Given the description of an element on the screen output the (x, y) to click on. 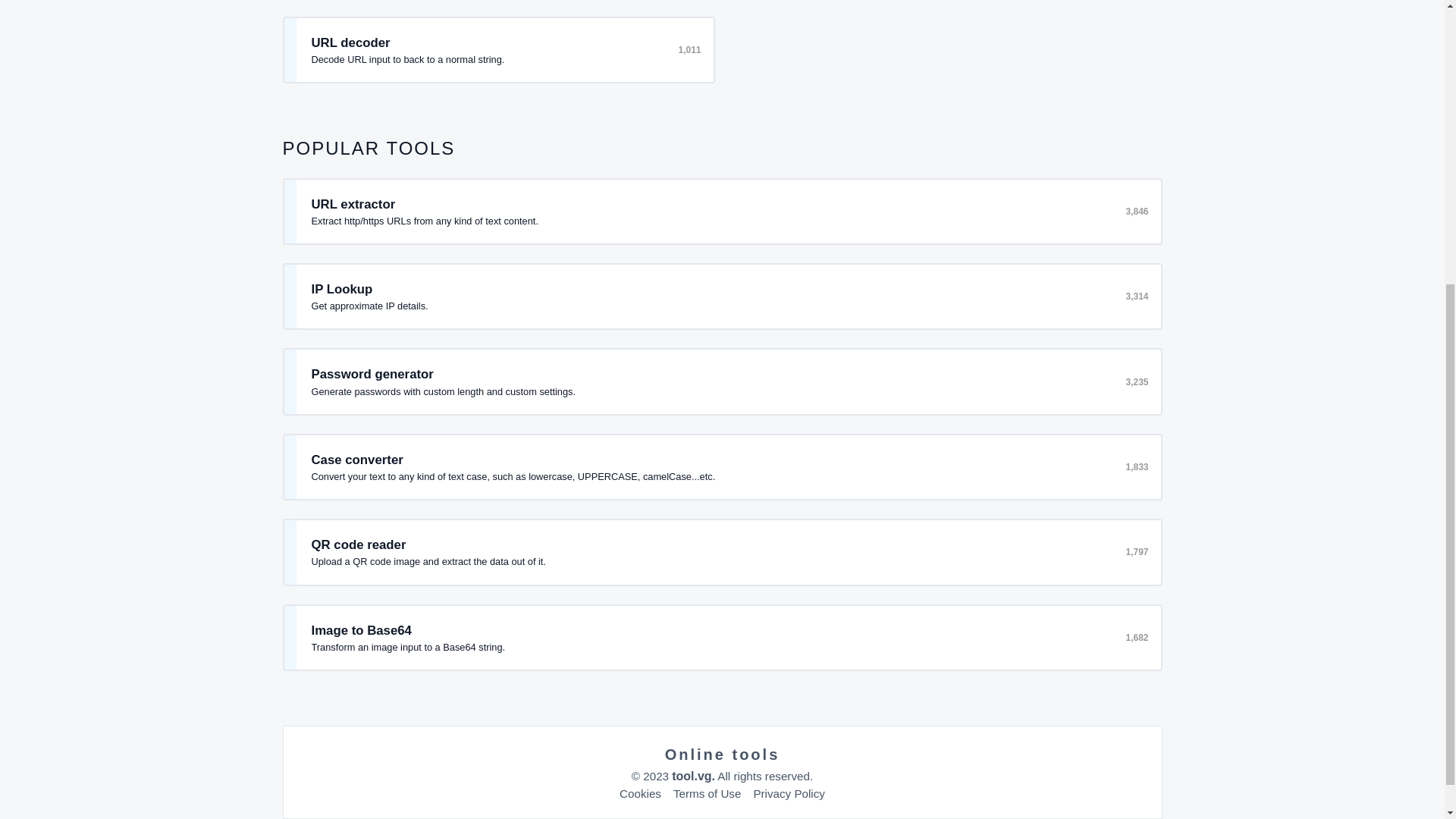
Privacy Policy (788, 793)
Total views (687, 49)
Cookies (640, 793)
Total views (1135, 551)
Total views (1135, 381)
Online tools (722, 754)
Total views (1135, 211)
Total views (1135, 466)
Total views (1135, 637)
Total views (1135, 296)
Terms of Use (706, 793)
